Given the description of an element on the screen output the (x, y) to click on. 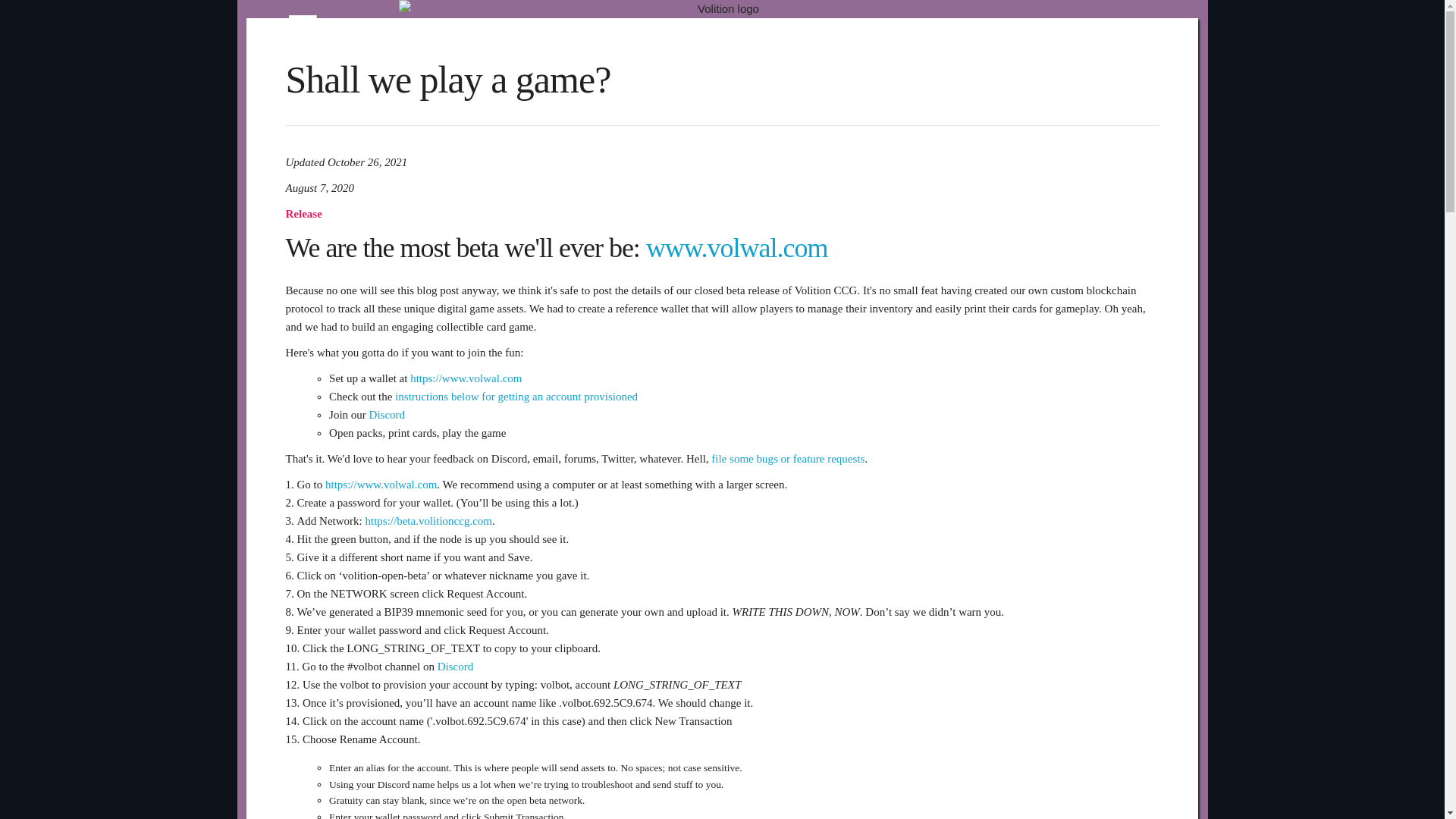
Discord (456, 666)
file some bugs or feature requests (787, 458)
www.volwal.com (737, 247)
Discord (387, 414)
instructions below for getting an account provisioned (515, 396)
